Given the description of an element on the screen output the (x, y) to click on. 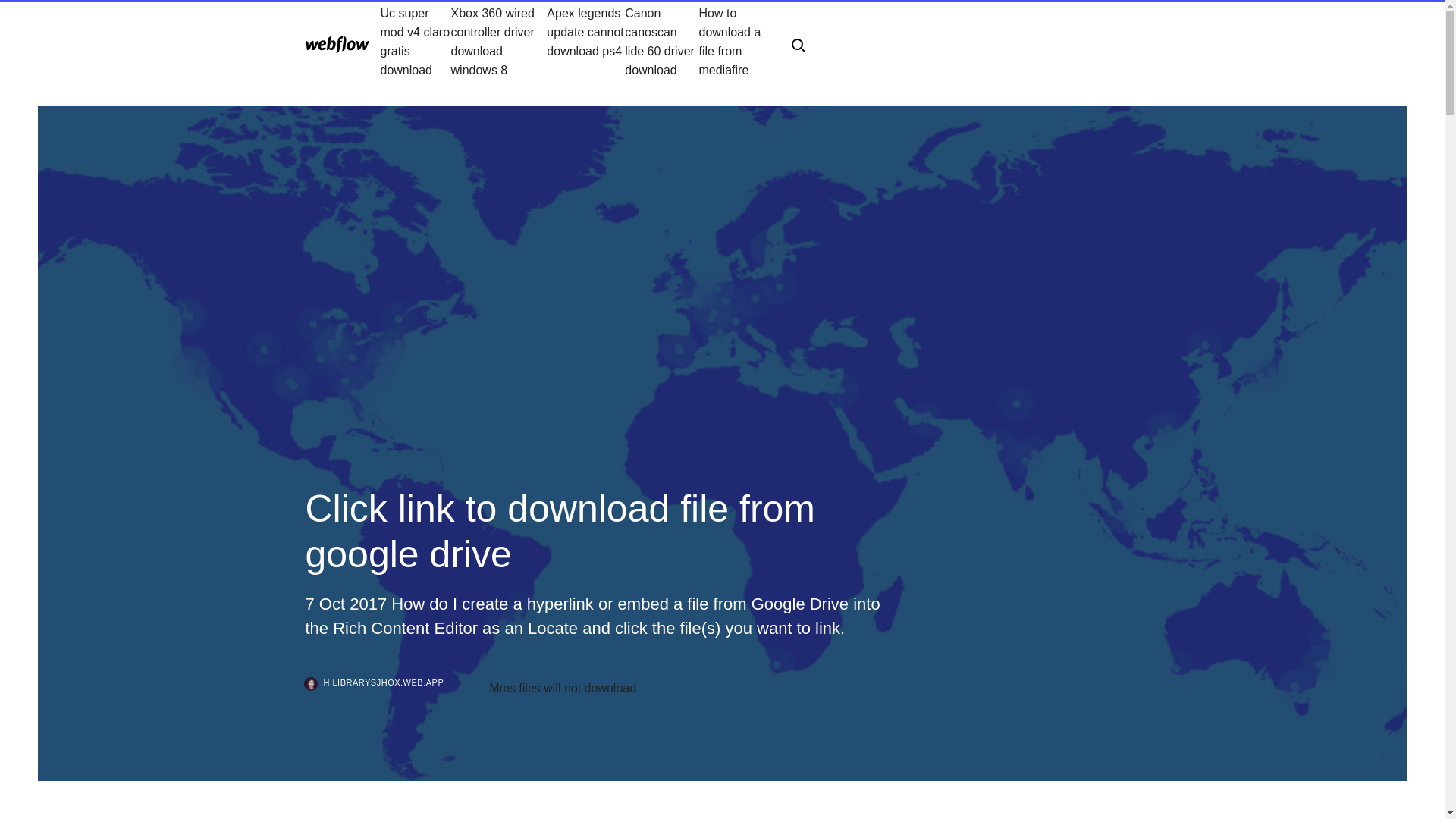
Apex legends update cannot download ps4 (585, 41)
HILIBRARYSJHOX.WEB.APP (384, 691)
Xbox 360 wired controller driver download windows 8 (499, 41)
Uc super mod v4 claro gratis download (415, 41)
How to download a file from mediafire (732, 41)
Mms files will not download (562, 687)
Canon canoscan lide 60 driver download (661, 41)
